Given the description of an element on the screen output the (x, y) to click on. 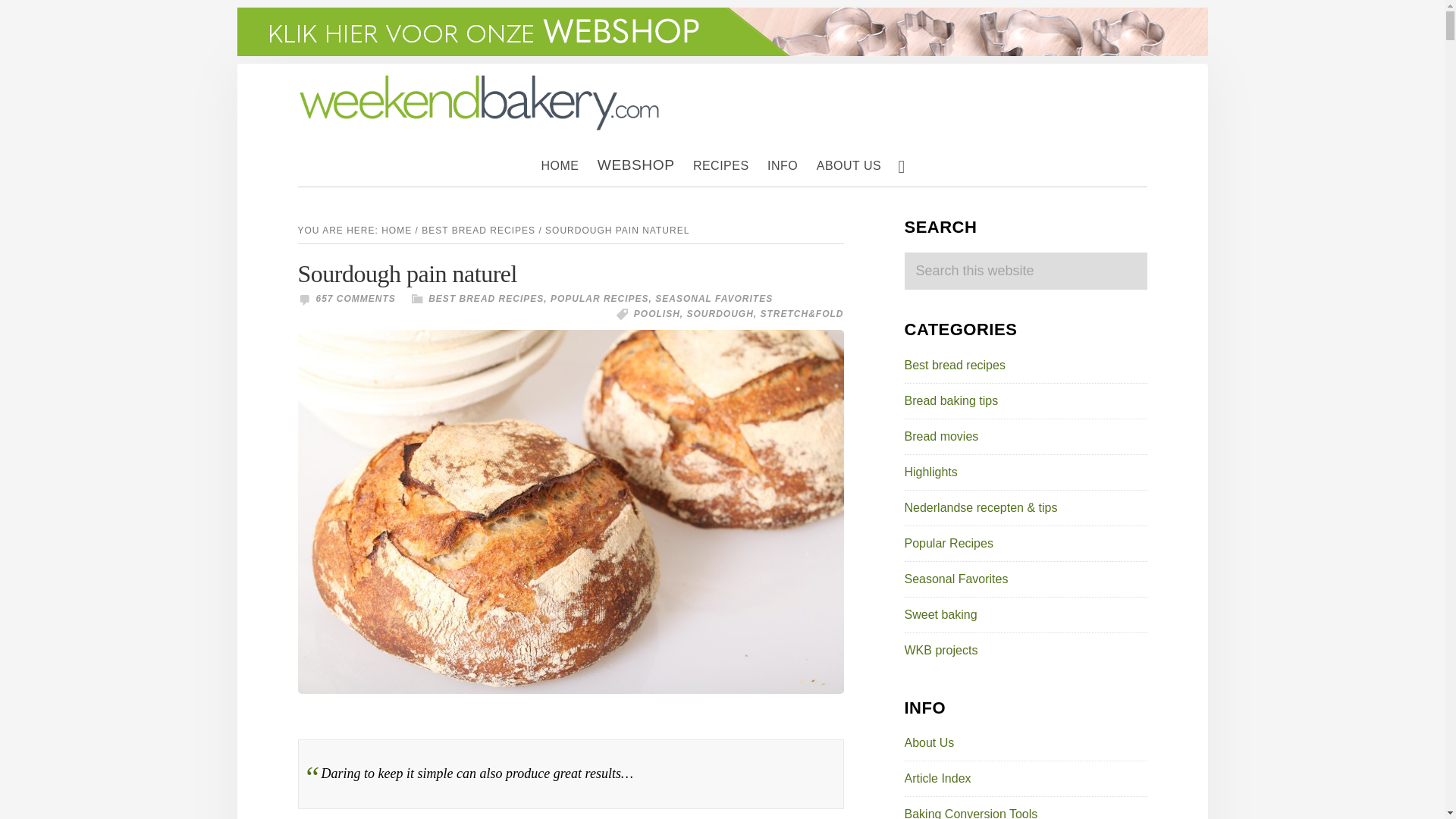
RECIPES (721, 165)
HOME (559, 165)
Weekend Bakery (479, 102)
WEBSHOP (635, 164)
Weekend Bakery (479, 80)
